Given the description of an element on the screen output the (x, y) to click on. 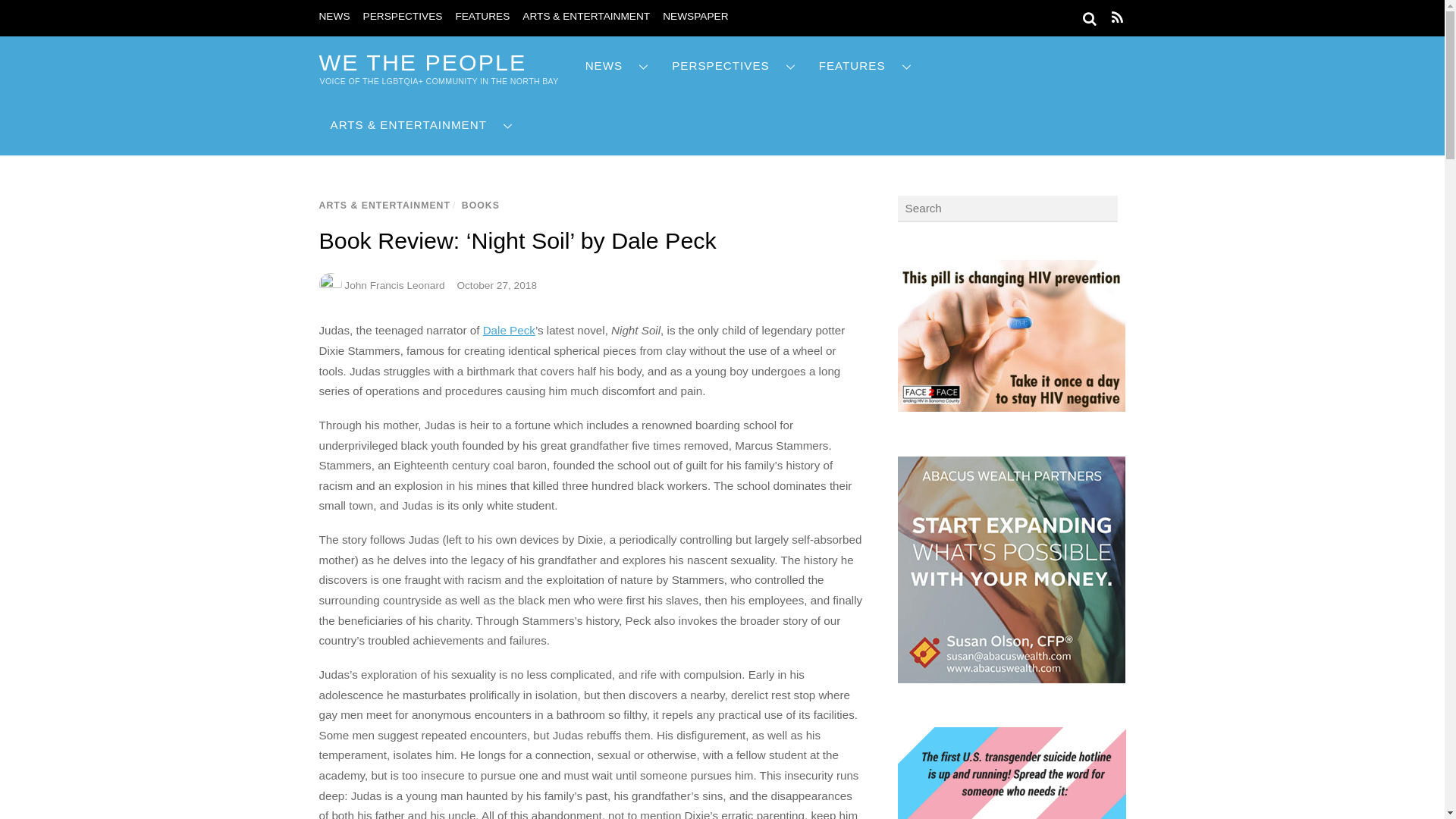
NEWS (617, 66)
NEWSPAPER (695, 16)
We The People (421, 62)
WE THE PEOPLE (421, 62)
PERSPECTIVES (402, 16)
FEATURES (481, 16)
NEWS (333, 16)
